Given the description of an element on the screen output the (x, y) to click on. 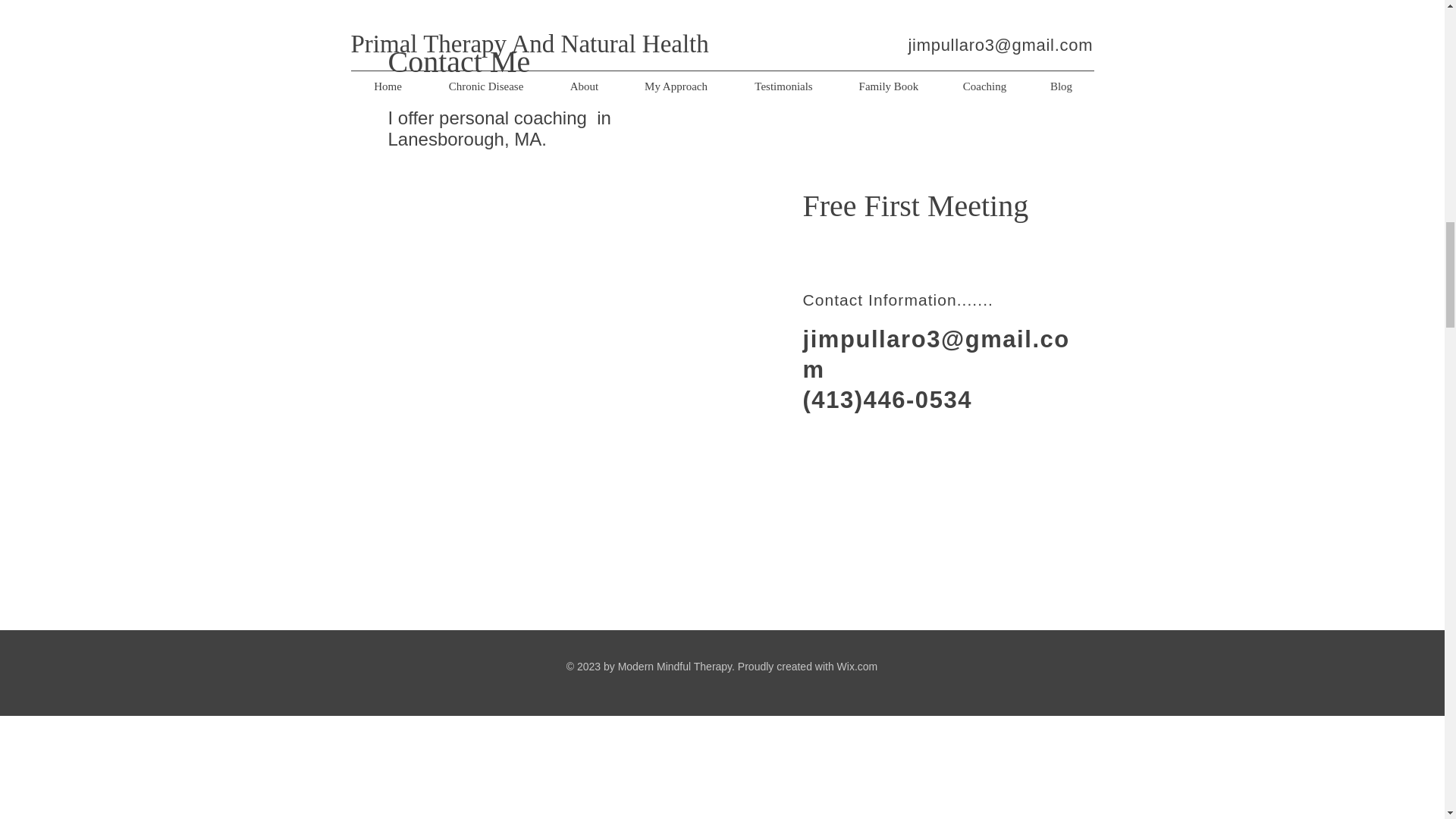
Wix.com (857, 666)
